Given the description of an element on the screen output the (x, y) to click on. 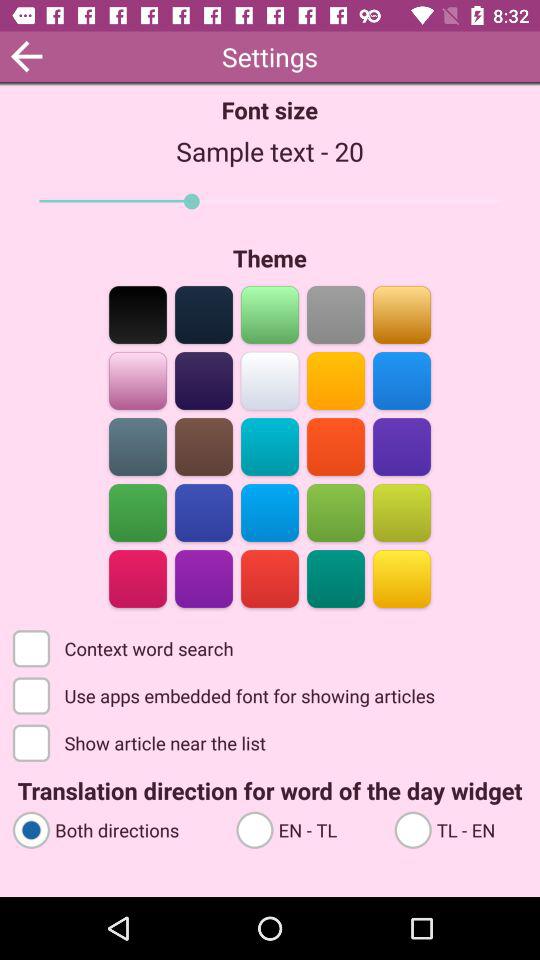
select theme colour (335, 511)
